Given the description of an element on the screen output the (x, y) to click on. 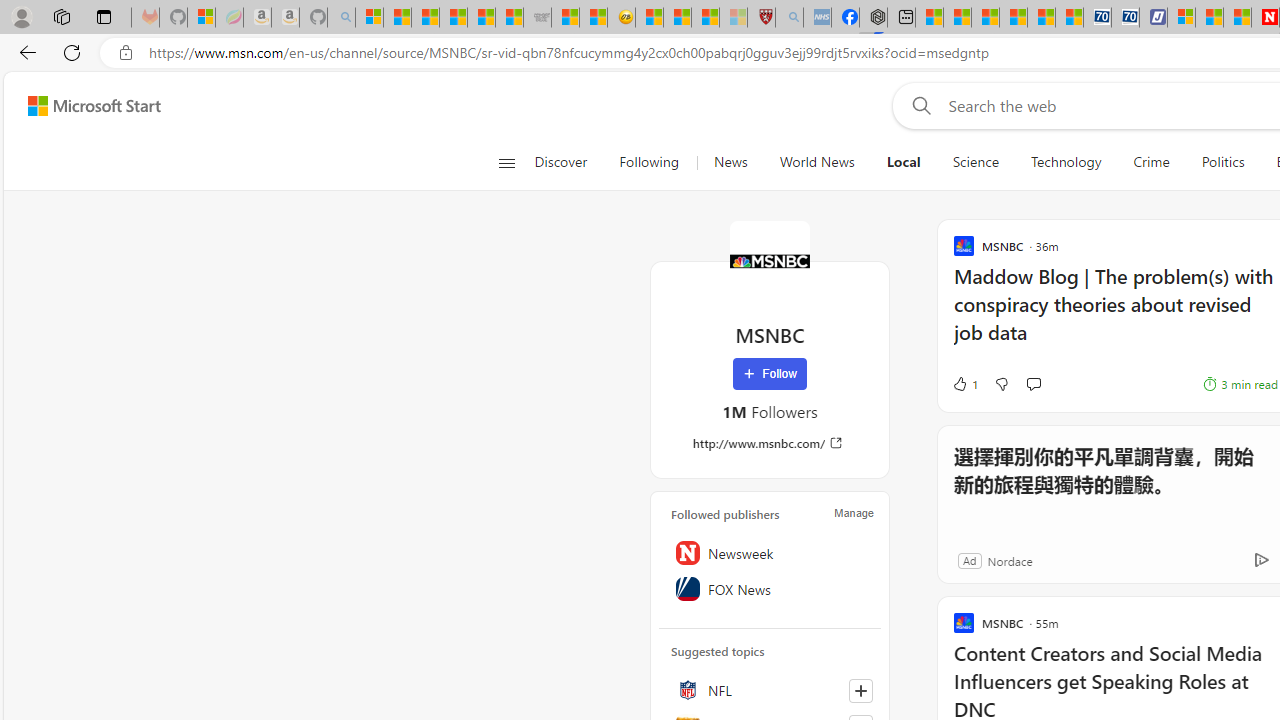
Skip to footer (82, 105)
Crime (1150, 162)
Combat Siege (537, 17)
Politics (1222, 162)
NFL (770, 690)
